Given the description of an element on the screen output the (x, y) to click on. 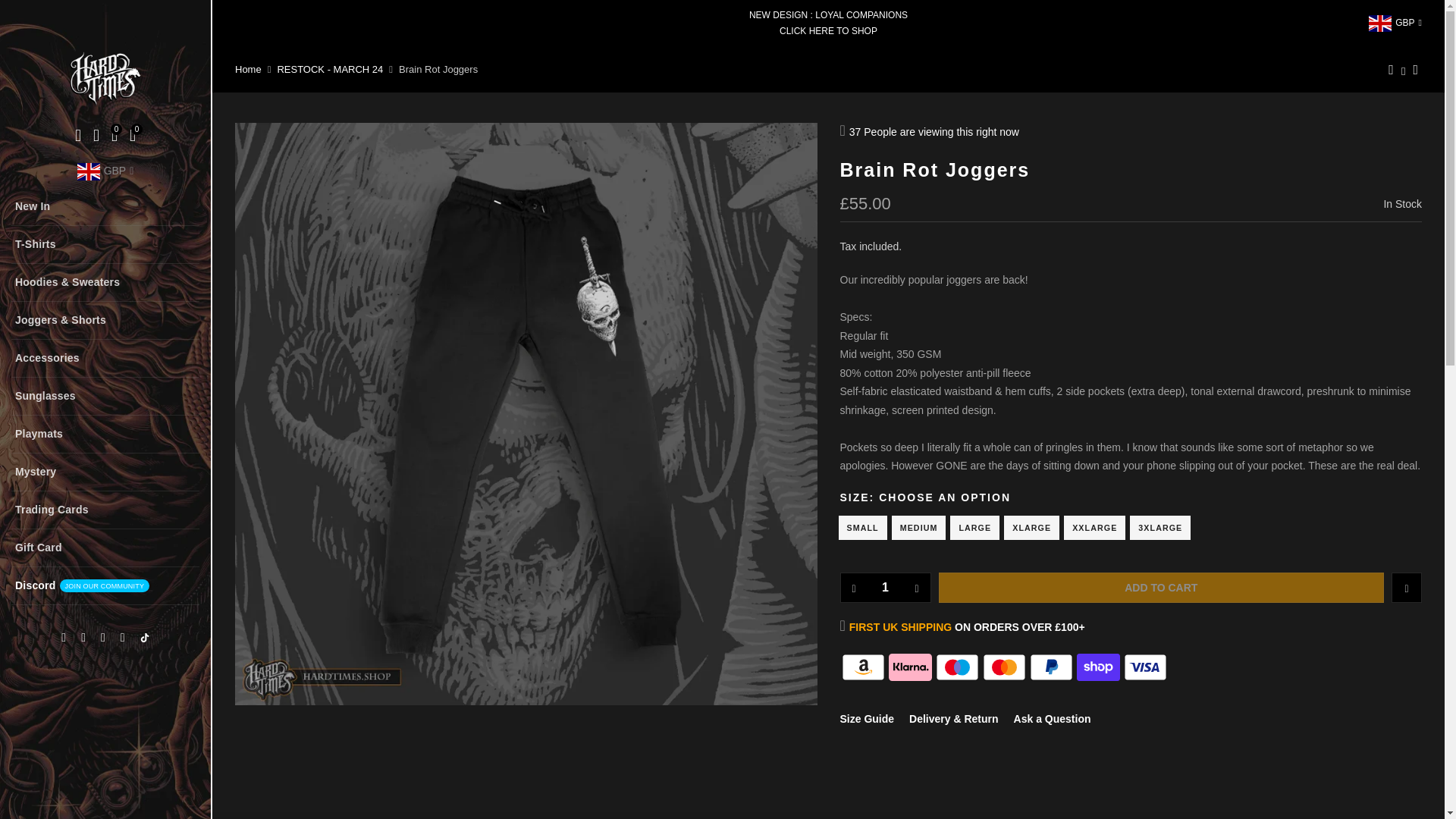
Companion Collection (842, 38)
Gift Card (105, 548)
Mystery (105, 472)
Playmats (105, 434)
Sunglasses (105, 396)
T-Shirts (105, 244)
New In (105, 207)
Trading Cards (105, 510)
1 (885, 587)
Accessories (105, 358)
0 (113, 137)
CLICK HERE TO SHOP (105, 586)
